Given the description of an element on the screen output the (x, y) to click on. 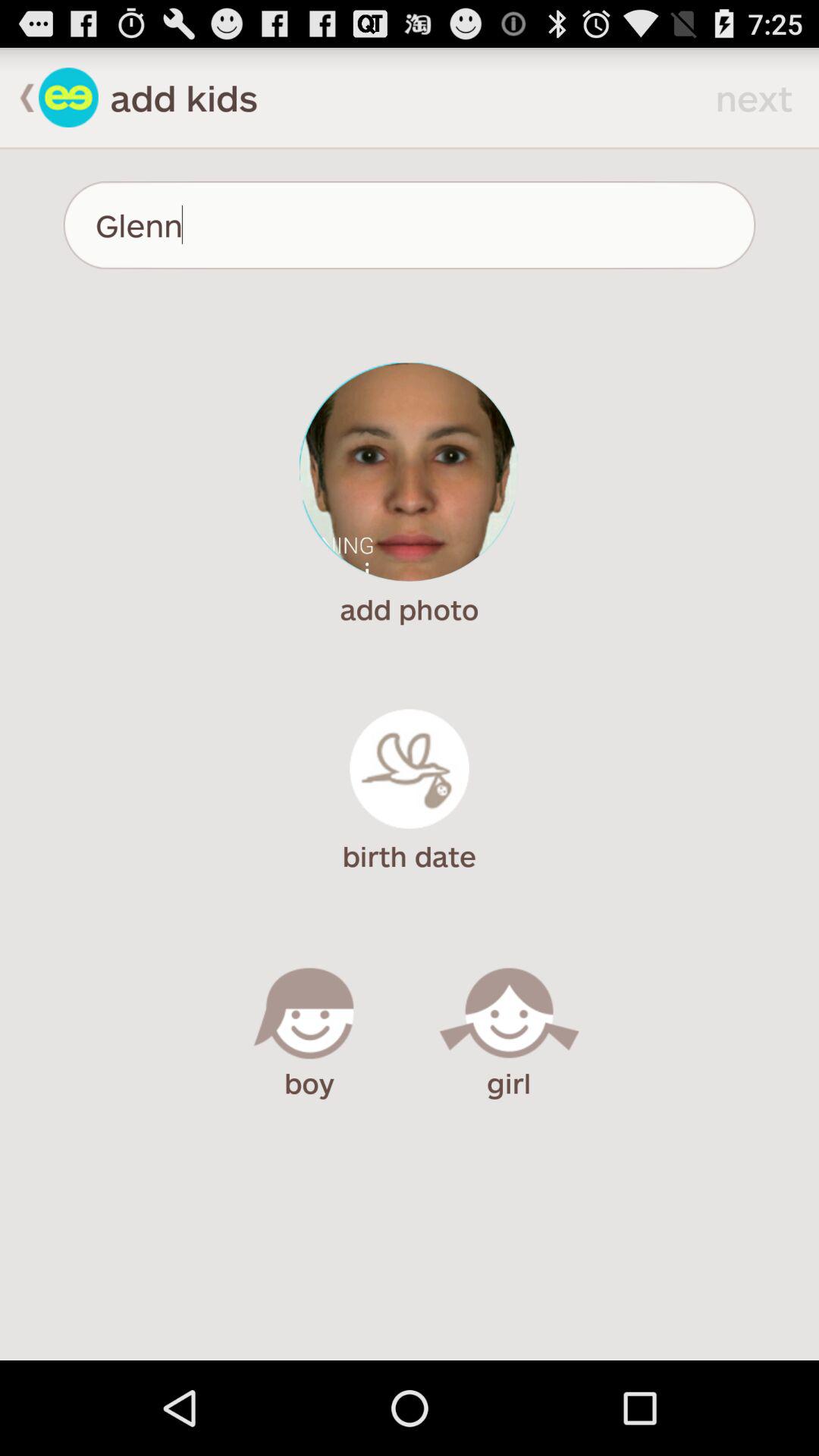
app info (68, 97)
